Given the description of an element on the screen output the (x, y) to click on. 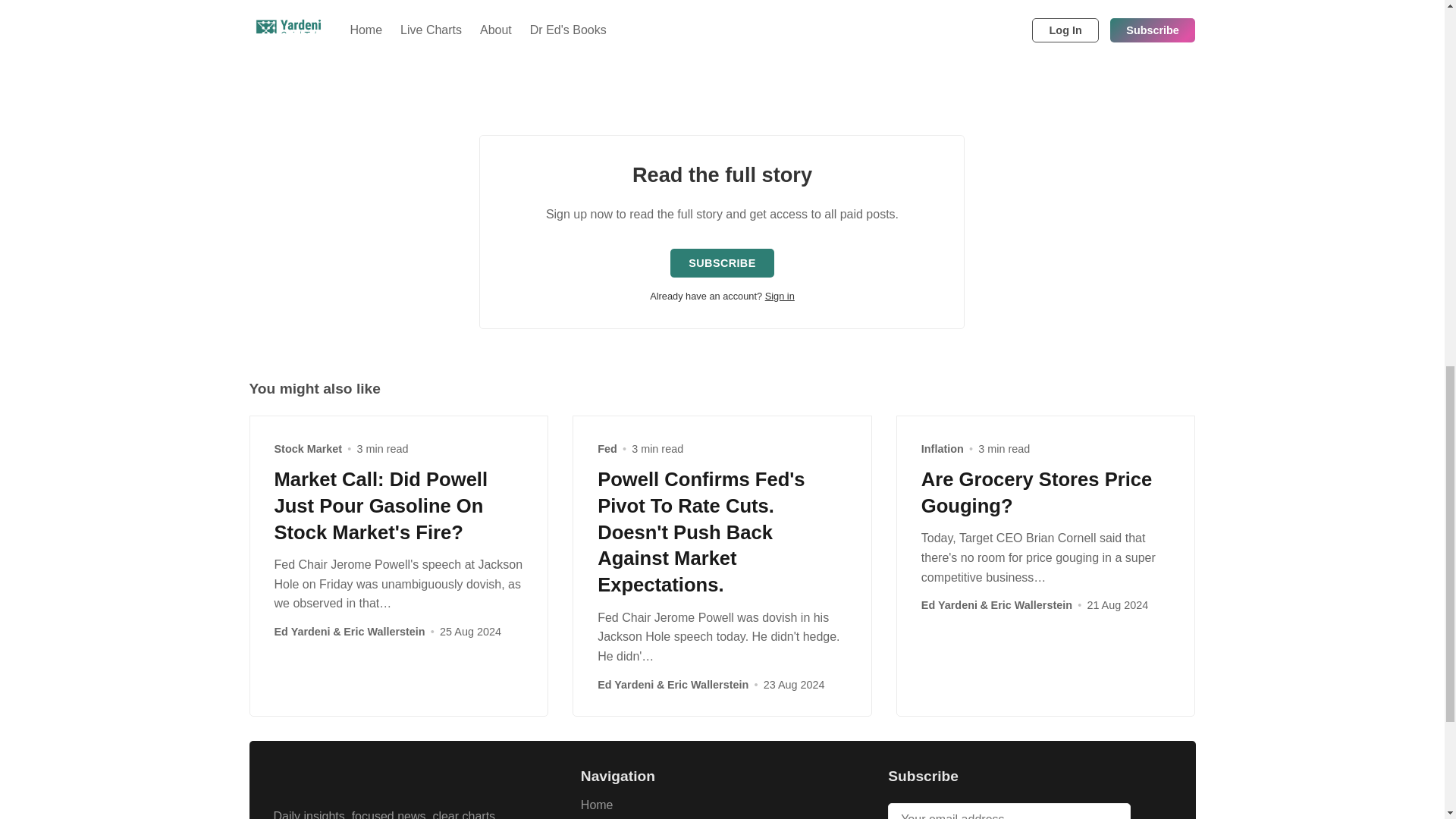
Sign in (779, 296)
SUBSCRIBE (721, 262)
Stock Market (308, 448)
Ed Yardeni (302, 631)
Eric Wallerstein (384, 631)
Ed Yardeni (624, 684)
Fed (606, 448)
